Given the description of an element on the screen output the (x, y) to click on. 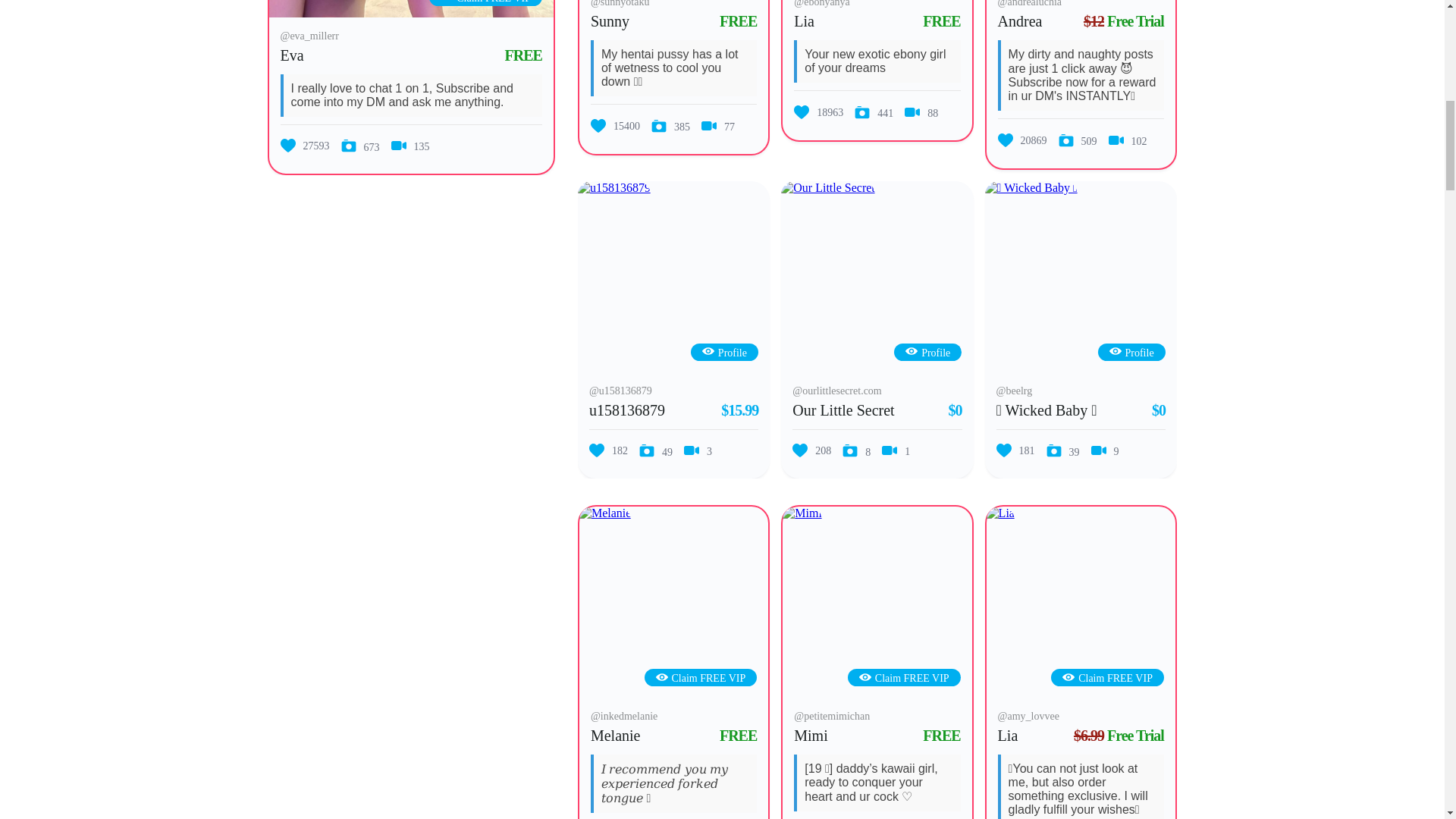
inkedmelanie (604, 513)
Eva (292, 55)
Sunny (609, 20)
Lia (803, 20)
Claim FREE VIP (486, 2)
ourlittlesecret.com (827, 187)
beelrg (1031, 187)
Profile (723, 353)
Andrea (1019, 20)
petitemimichan (802, 513)
